Given the description of an element on the screen output the (x, y) to click on. 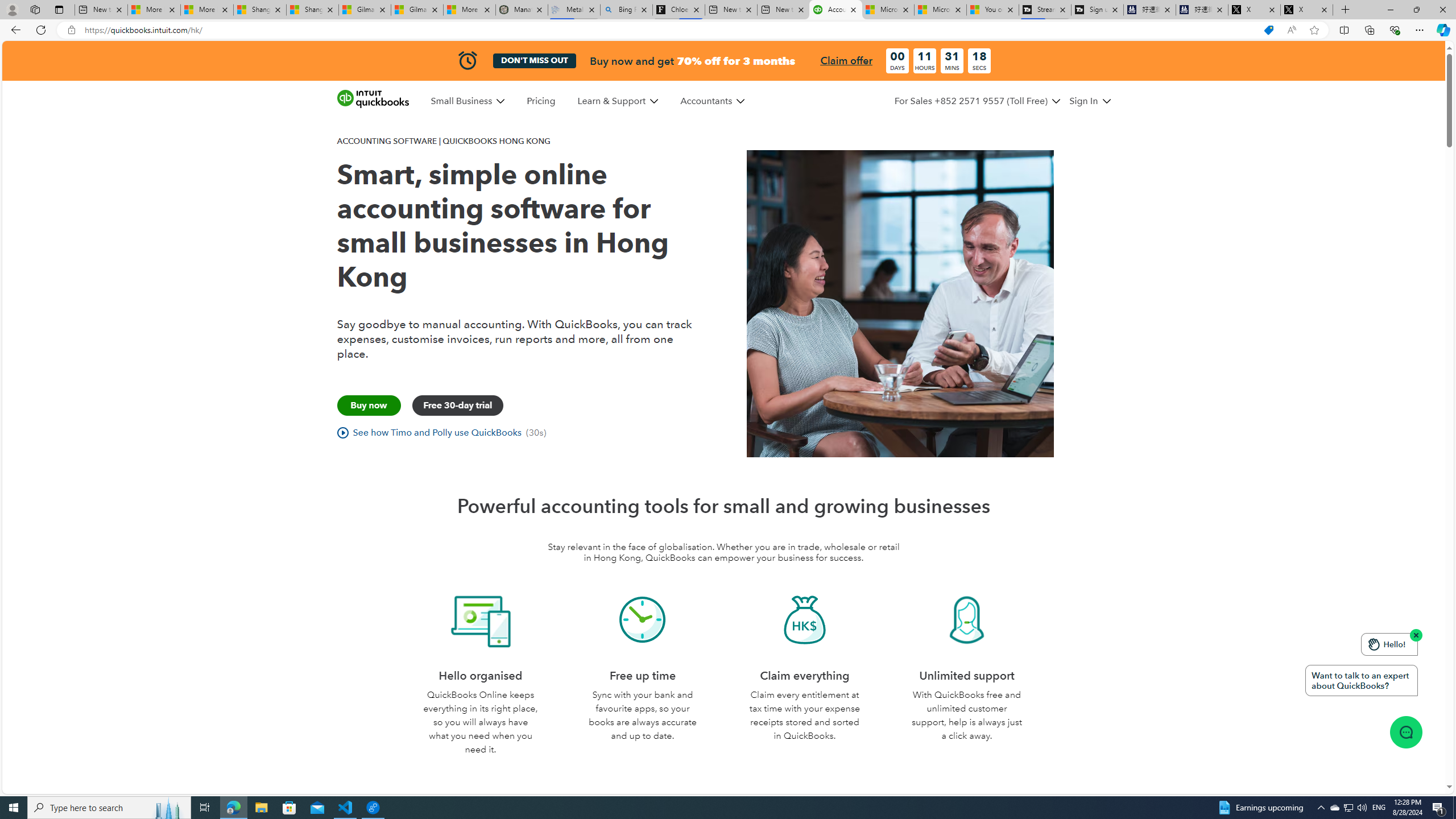
Claim offer (845, 60)
Personal Profile (12, 9)
Free up time (642, 619)
Accountants (712, 101)
